Given the description of an element on the screen output the (x, y) to click on. 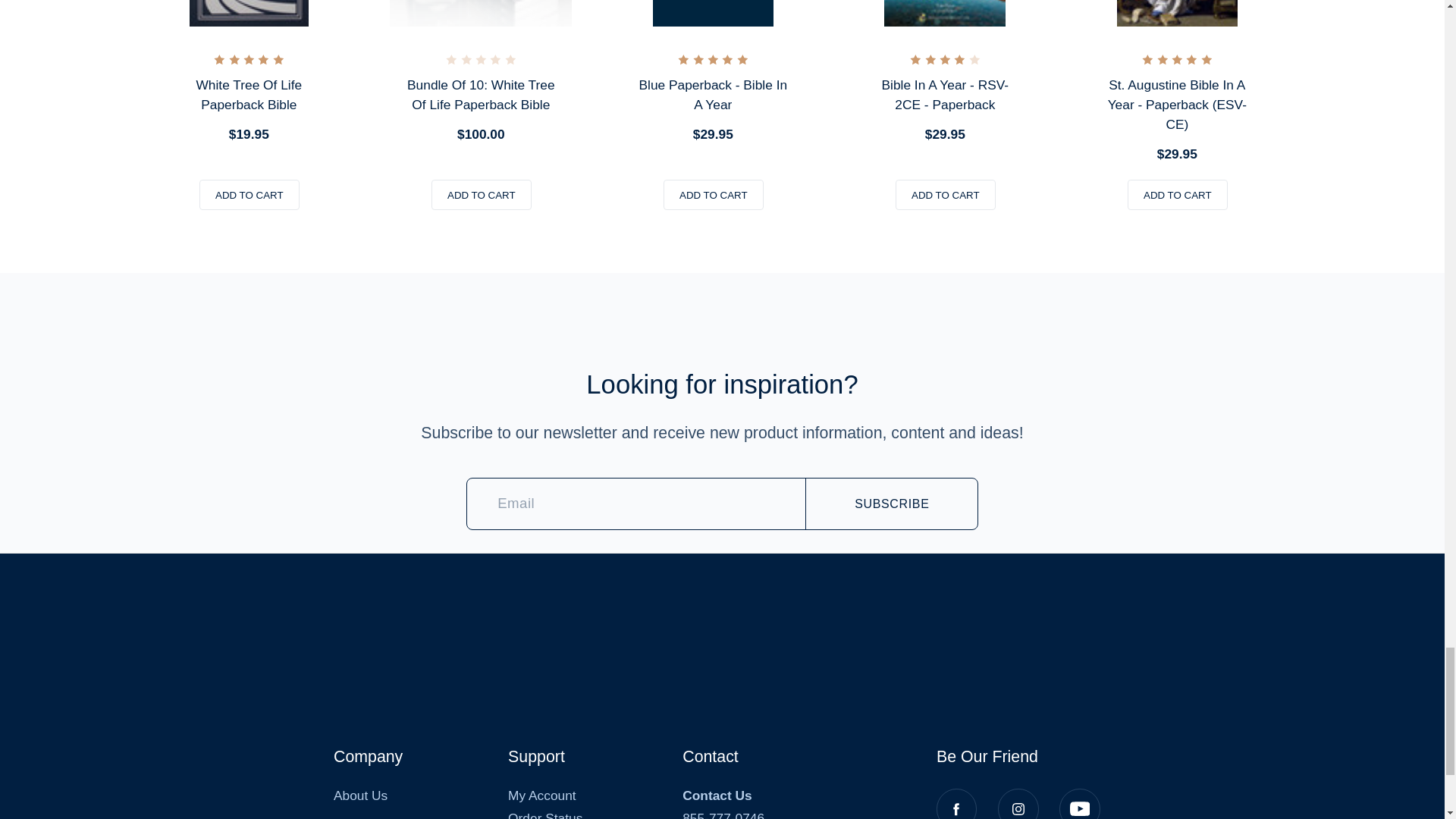
White Tree of Life Paperback Bible (248, 13)
Bible in a Year - RSV-2CE - Paperback (944, 13)
Bundle of 10:  White Tree of Life Paperback Bible (481, 13)
Blue Paperback - Bible in a Year (712, 13)
Subscribe (892, 503)
Instagram (1017, 803)
Youtube (1079, 803)
Facebook (956, 803)
